Given the description of an element on the screen output the (x, y) to click on. 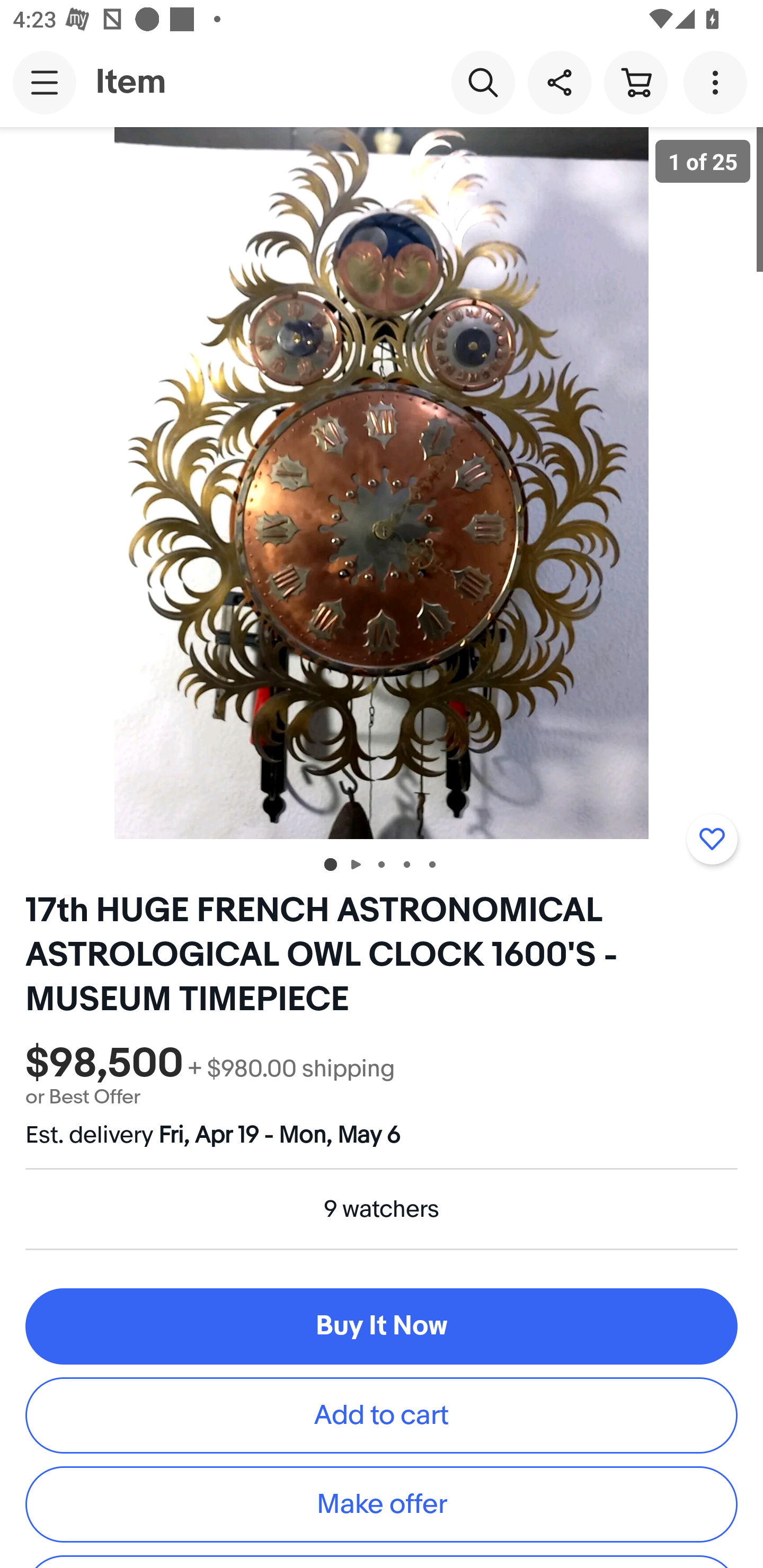
Main navigation, open (44, 82)
Search (482, 81)
Share this item (559, 81)
Cart button shopping cart (635, 81)
More options (718, 81)
Item image 1 of 25 (381, 482)
Add to watchlist (711, 838)
Buy It Now (381, 1326)
Add to cart (381, 1414)
Make offer (381, 1504)
